Given the description of an element on the screen output the (x, y) to click on. 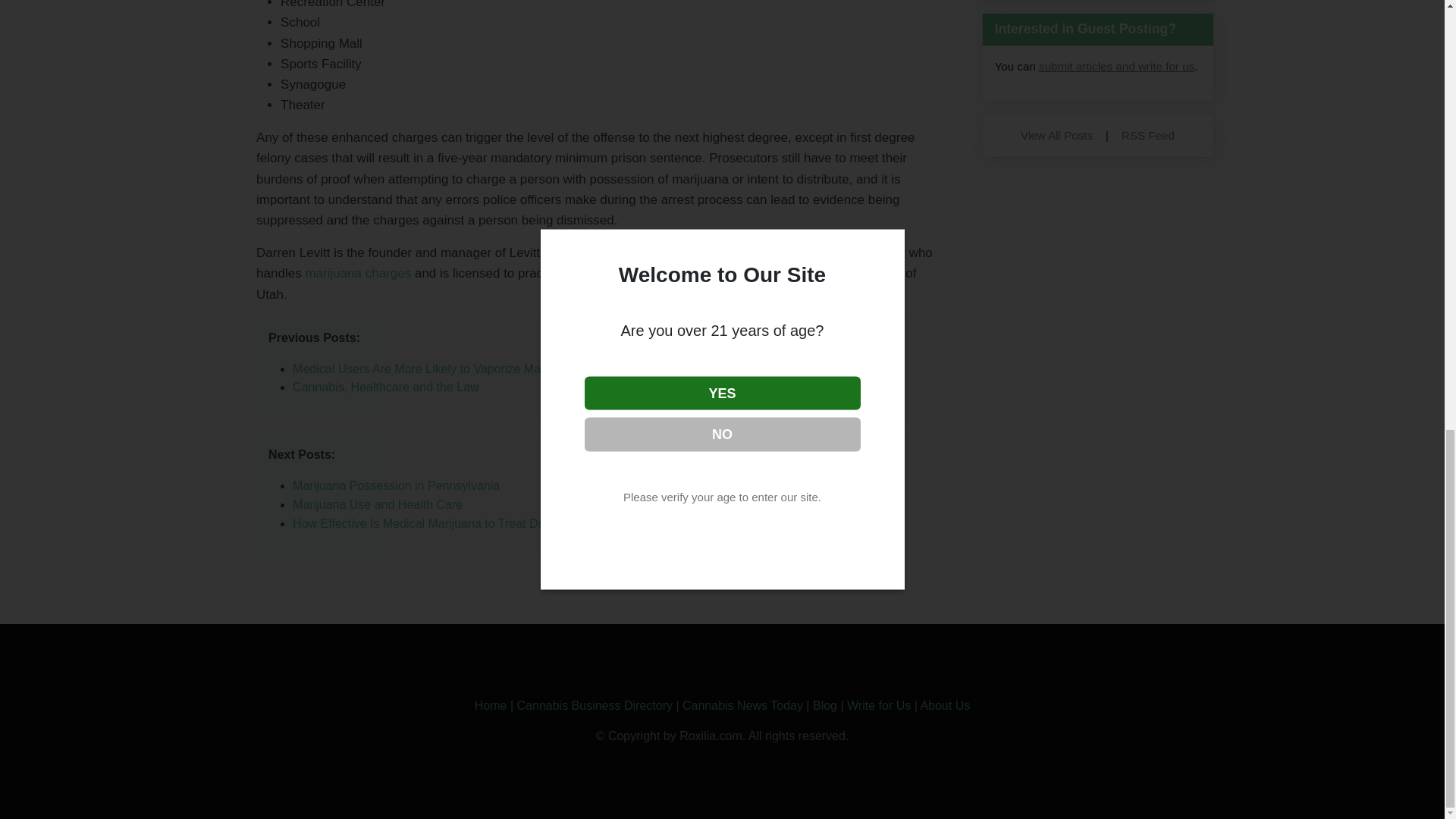
Blog (824, 705)
Cannabis, Healthcare and the Law (385, 386)
View All Posts (1056, 134)
Cannabis News Today (742, 705)
submit articles and write for us (1116, 65)
Marijuana Use and Health Care (377, 504)
How Effective Is Medical Marijuana to Treat Drug Addiction? (453, 522)
Marijuana Possession in Pennsylvania (395, 485)
Cannabis Business Directory (594, 705)
RSS Feed (1147, 134)
Home (490, 705)
marijuana charges (357, 273)
